Given the description of an element on the screen output the (x, y) to click on. 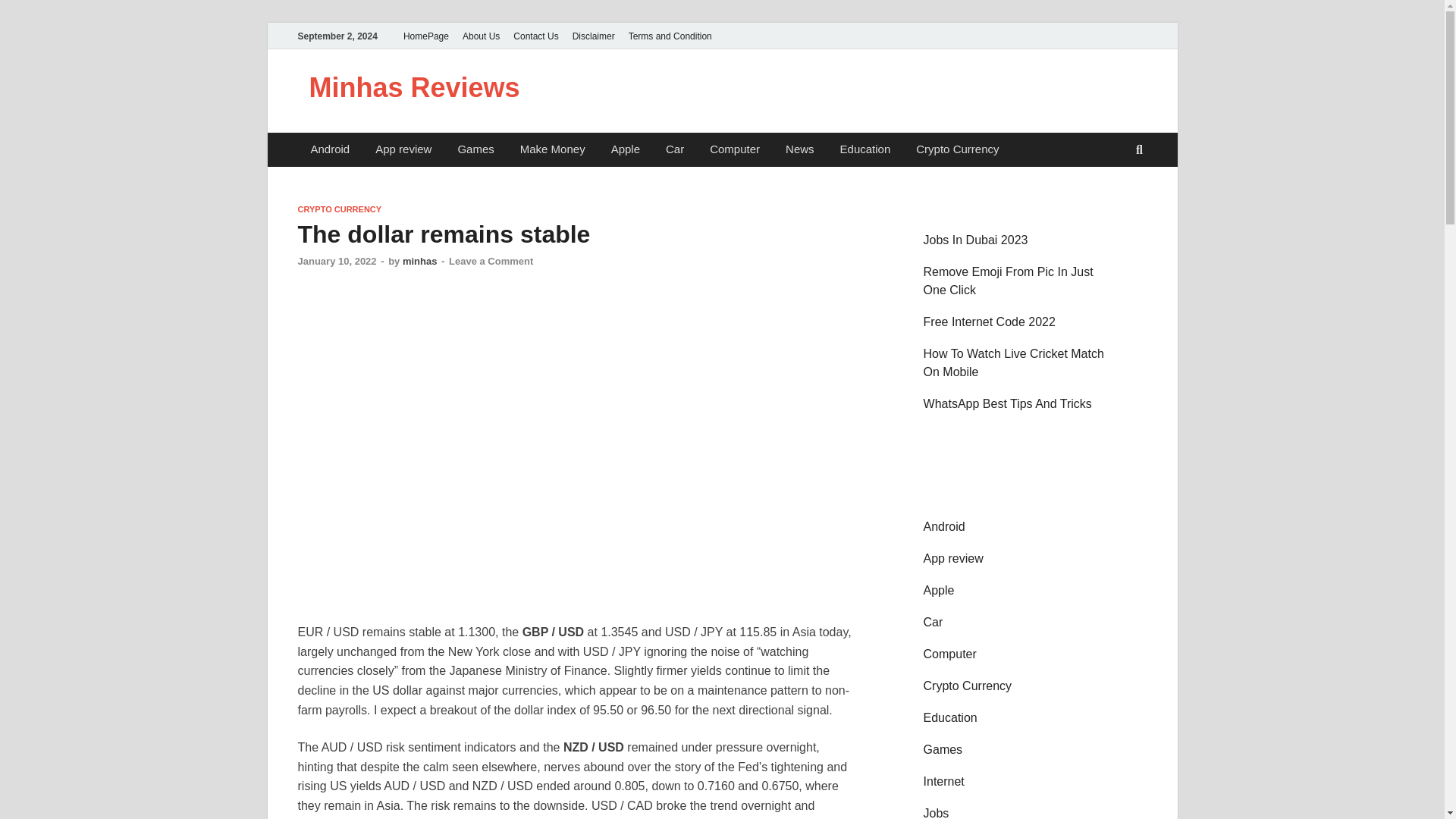
Leave a Comment (490, 260)
Apple (625, 149)
Terms and Condition (670, 35)
About Us (480, 35)
Education (865, 149)
minhas (420, 260)
CRYPTO CURRENCY (339, 208)
Android (329, 149)
News (800, 149)
Make Money (552, 149)
